Given the description of an element on the screen output the (x, y) to click on. 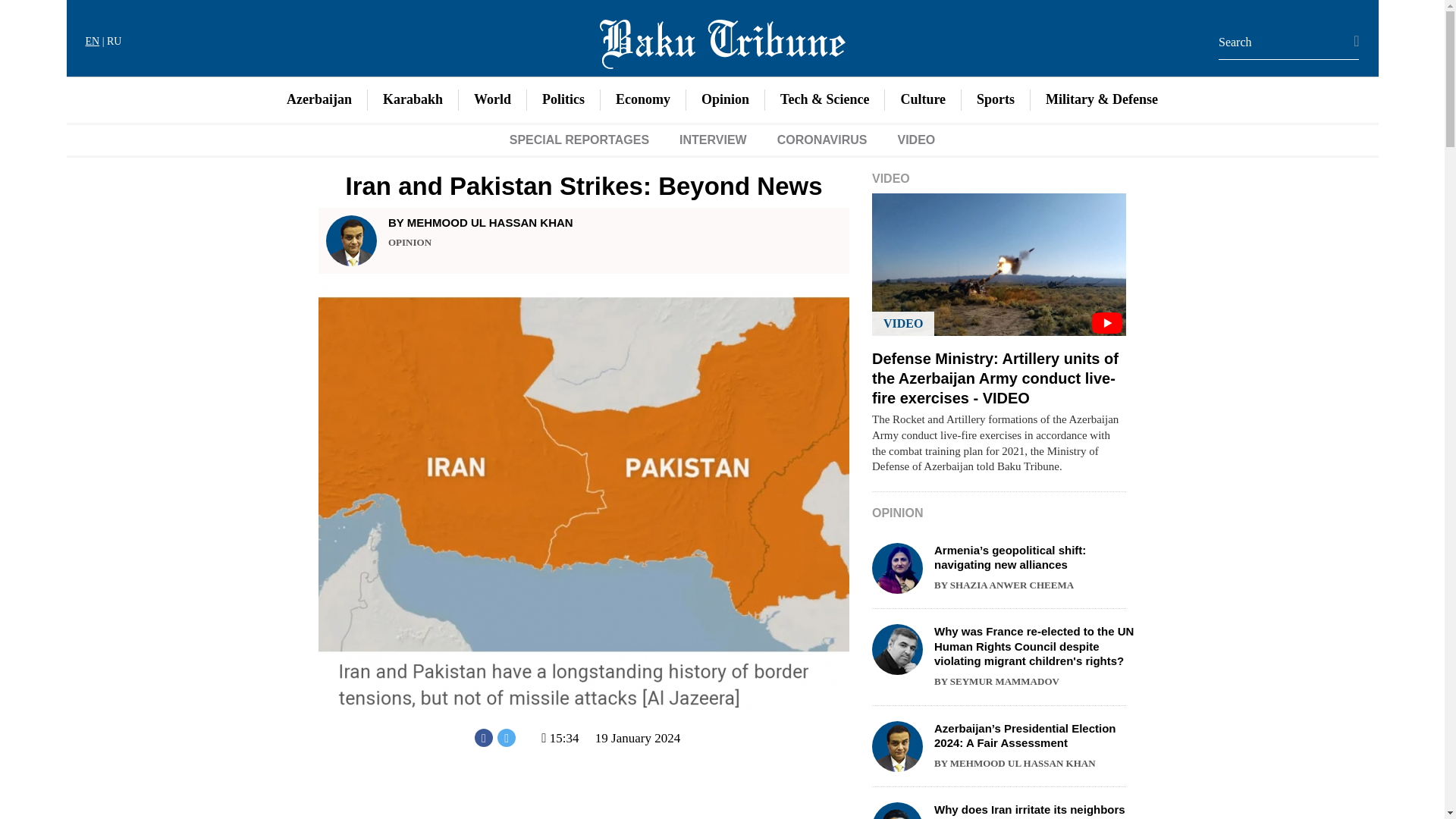
World (491, 99)
OPINION (409, 242)
Baku tribune, Bakutribune (721, 41)
Economy (642, 99)
SPECIAL REPORTAGES (579, 139)
INTERVIEW (712, 139)
Sports (994, 99)
Culture (921, 99)
Azerbaijan (318, 99)
Karabakh (412, 99)
